Given the description of an element on the screen output the (x, y) to click on. 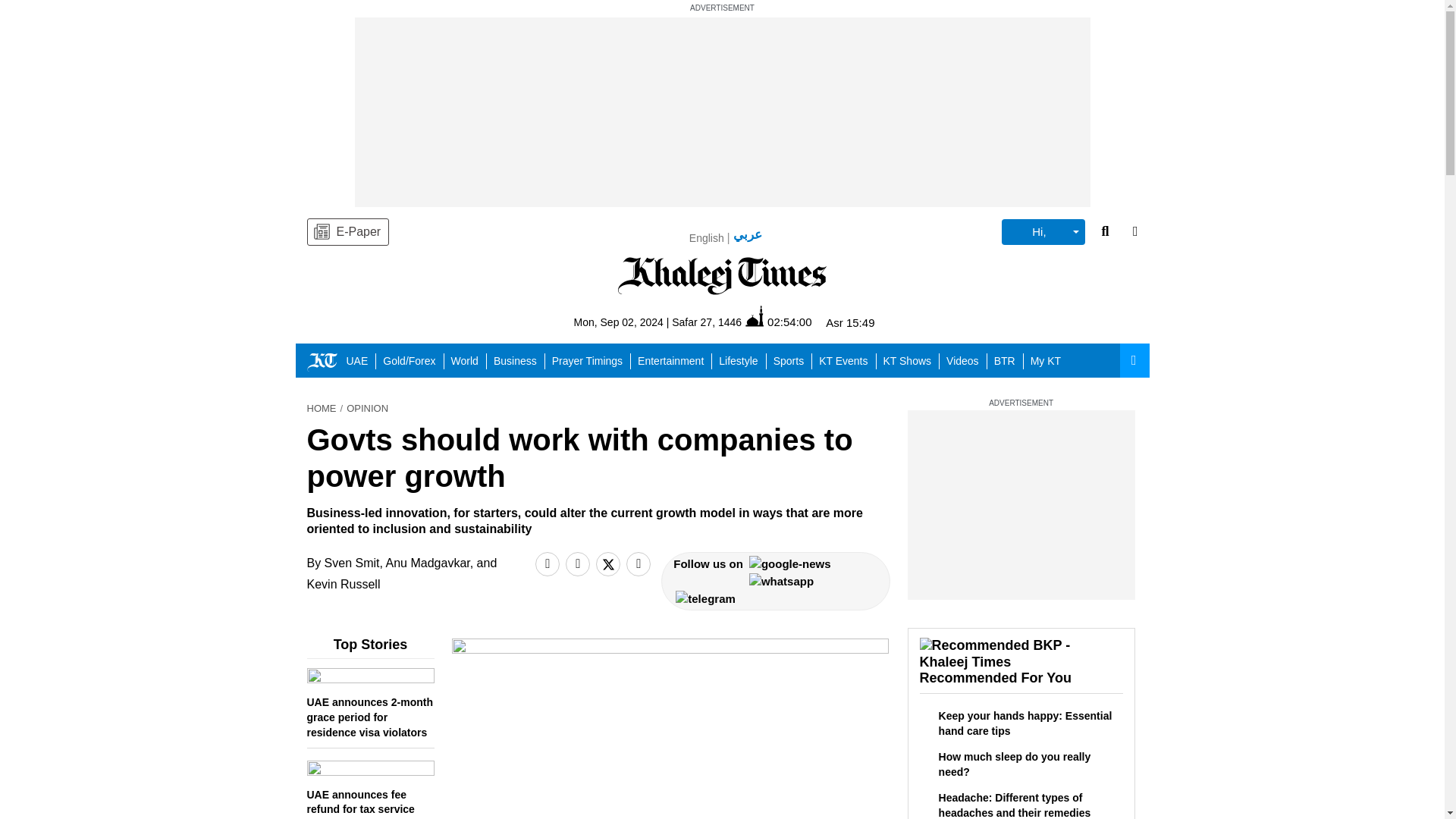
Hi, (1042, 232)
E-Paper (346, 231)
Asr 15:49 (850, 322)
02:54:00 (777, 321)
